Given the description of an element on the screen output the (x, y) to click on. 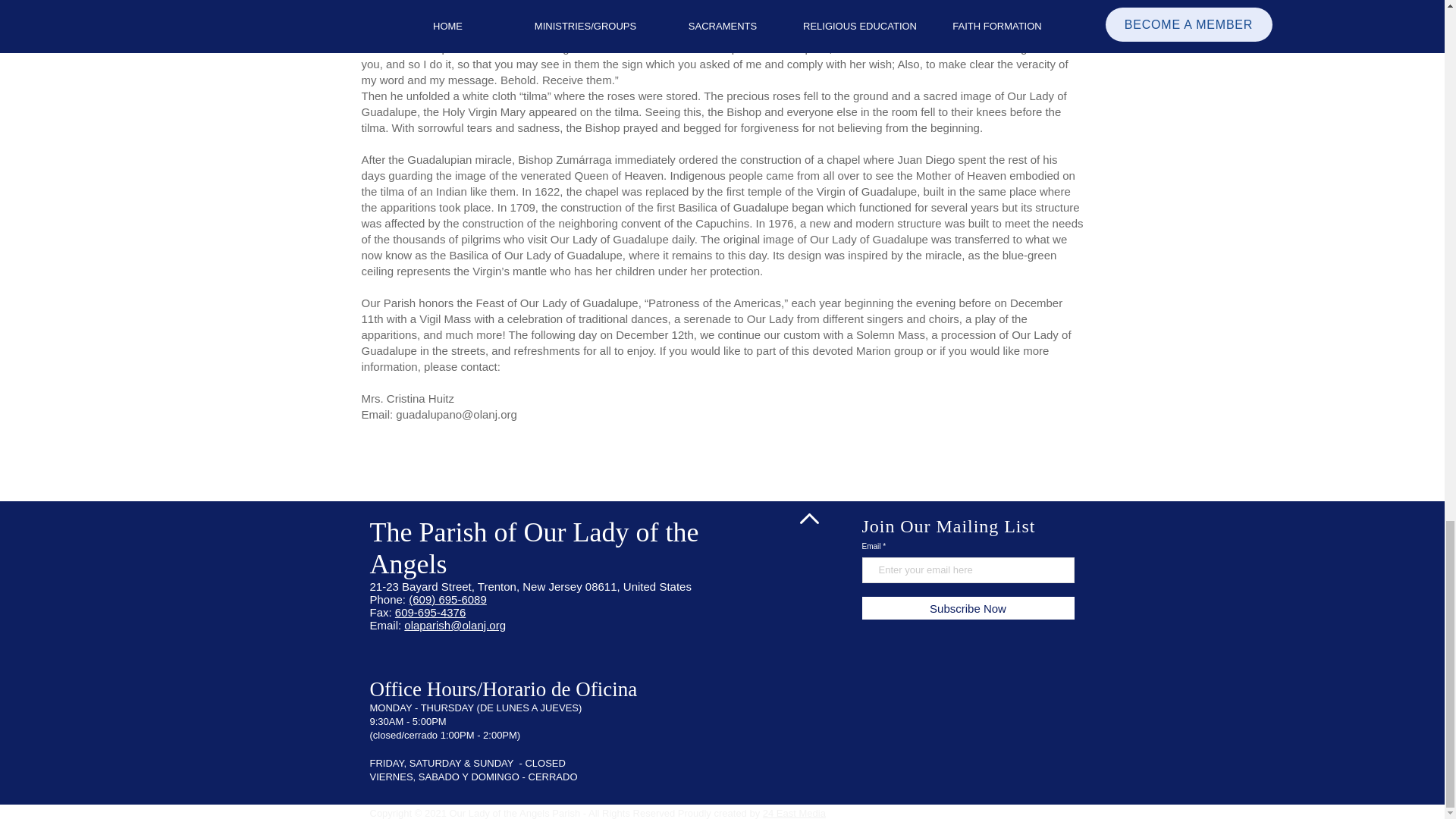
Subscribe Now (967, 608)
